Given the description of an element on the screen output the (x, y) to click on. 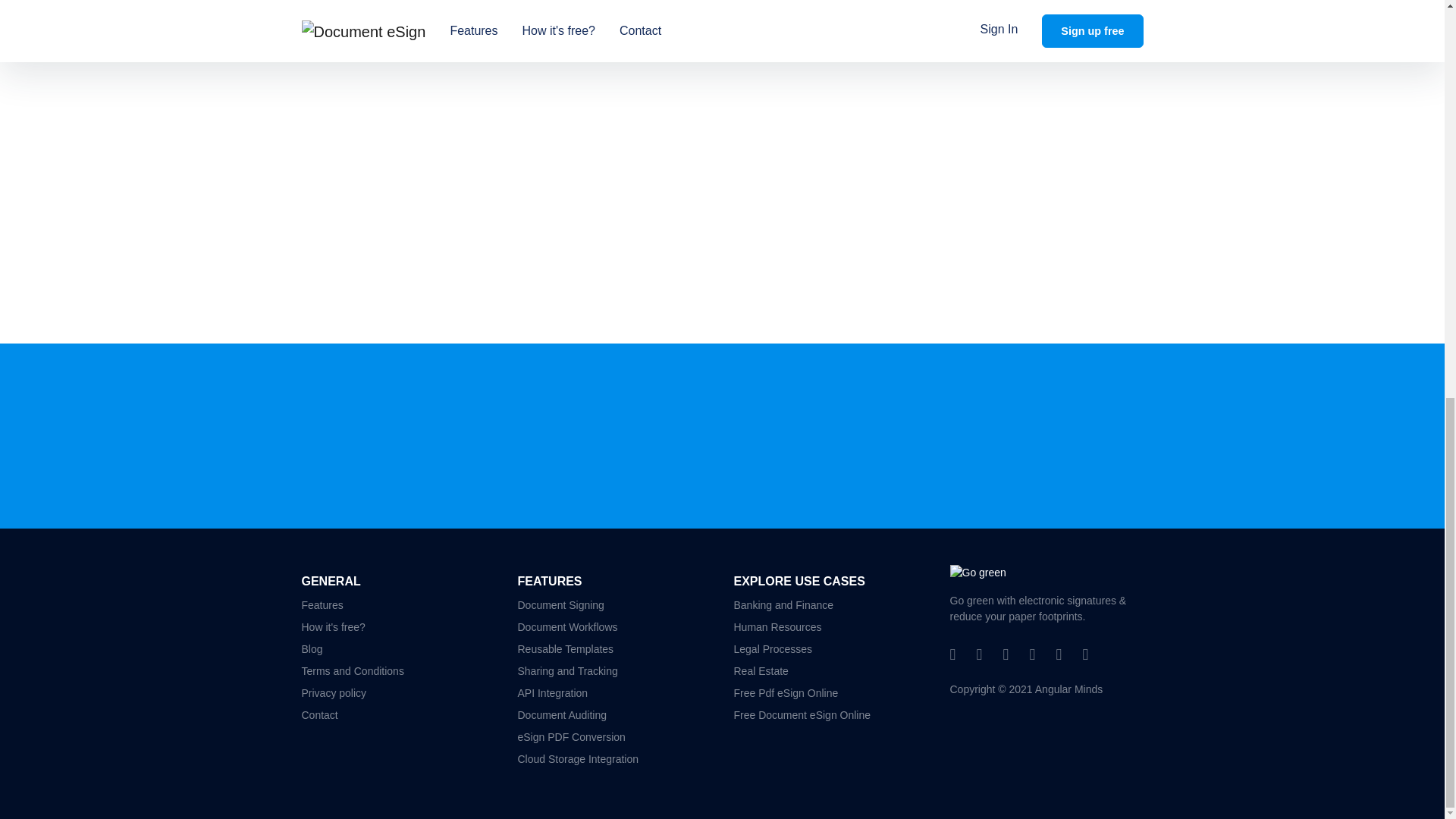
Reusable Templates (613, 649)
Blog (398, 649)
Document Signing (613, 605)
Features (398, 605)
eSign PDF Conversion (613, 737)
Document Auditing (613, 715)
Contact (398, 715)
Document Workflows (613, 627)
API Integration (613, 693)
Privacy policy (398, 693)
